Given the description of an element on the screen output the (x, y) to click on. 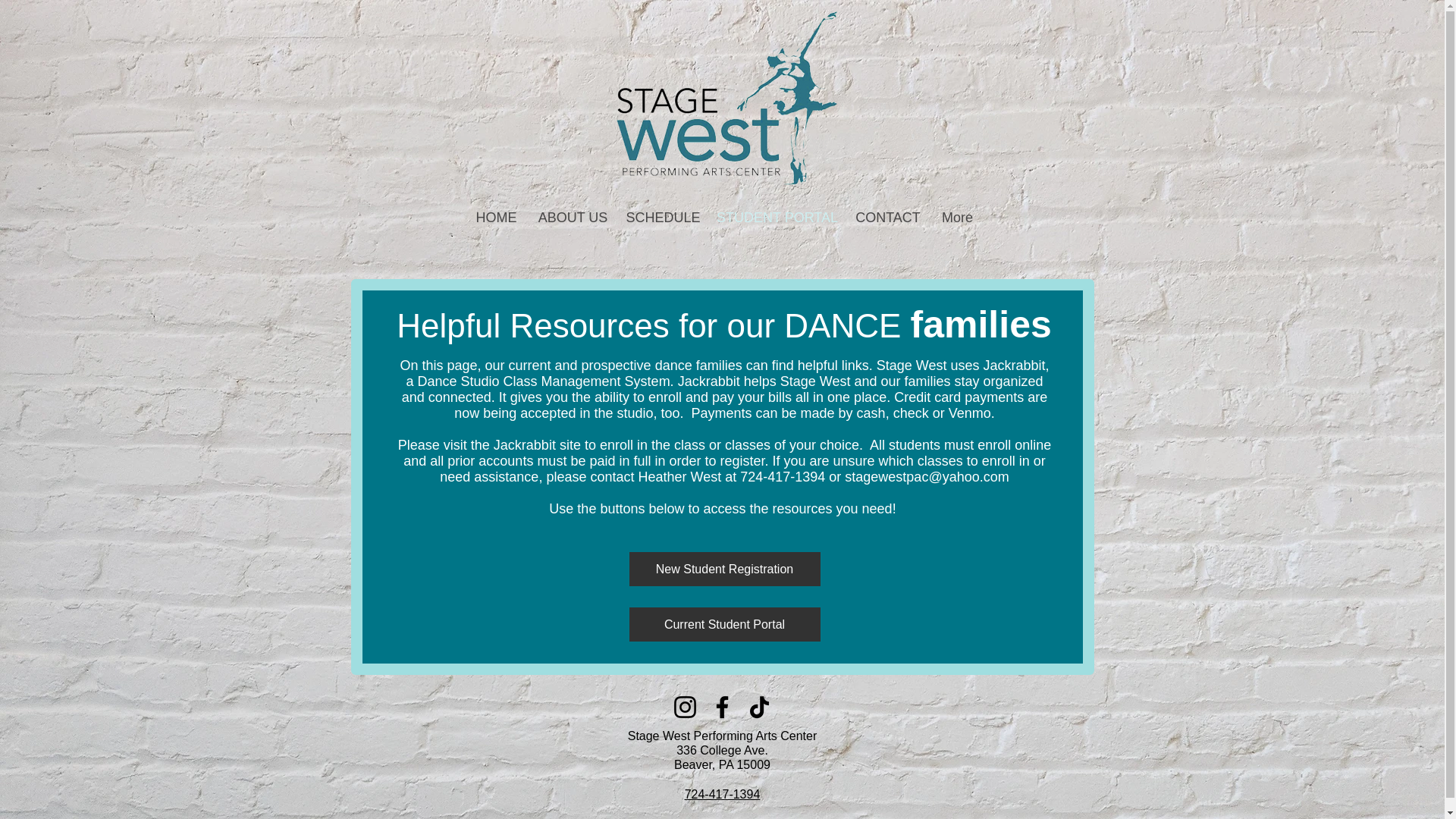
SCHEDULE (662, 217)
ABOUT US (572, 217)
CONTACT (887, 217)
HOME (495, 217)
Current Student Portal (724, 624)
724-417-1394 (722, 793)
New Student Registration (724, 569)
STUDENT PORTAL (776, 217)
